Given the description of an element on the screen output the (x, y) to click on. 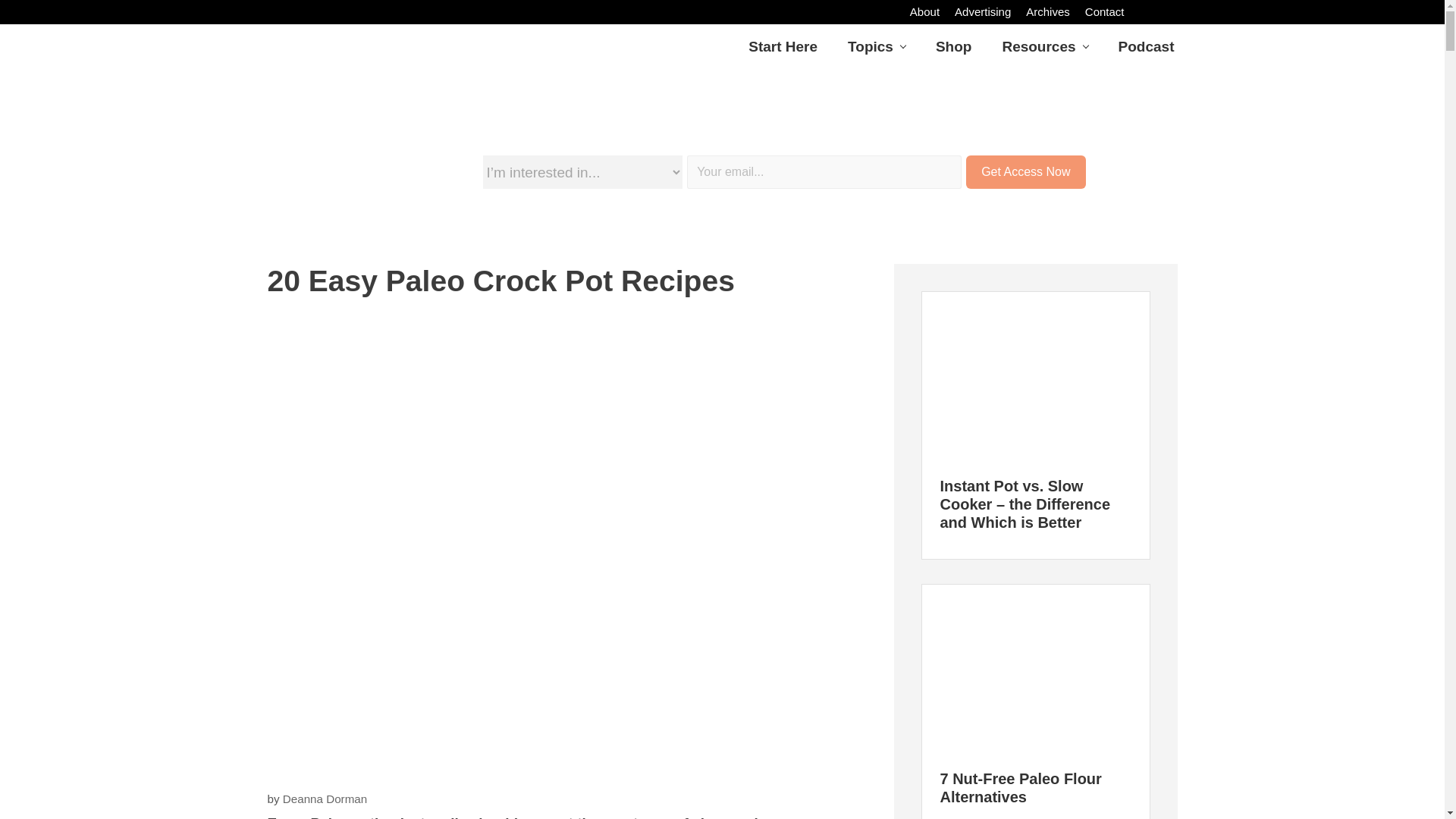
About (924, 11)
Start Here (783, 46)
Resources (1044, 46)
Twitter (1171, 11)
7 Nut-Free Paleo Flour Alternatives (1021, 787)
YouTube (1187, 11)
Facebook (1139, 11)
Podcast (1146, 46)
Advertising (982, 11)
Twitter (1171, 11)
Get Access Now (1025, 172)
Pinterest (1155, 11)
7 Nut-Free Paleo Flour Alternatives (1035, 669)
Archives (1047, 11)
